Given the description of an element on the screen output the (x, y) to click on. 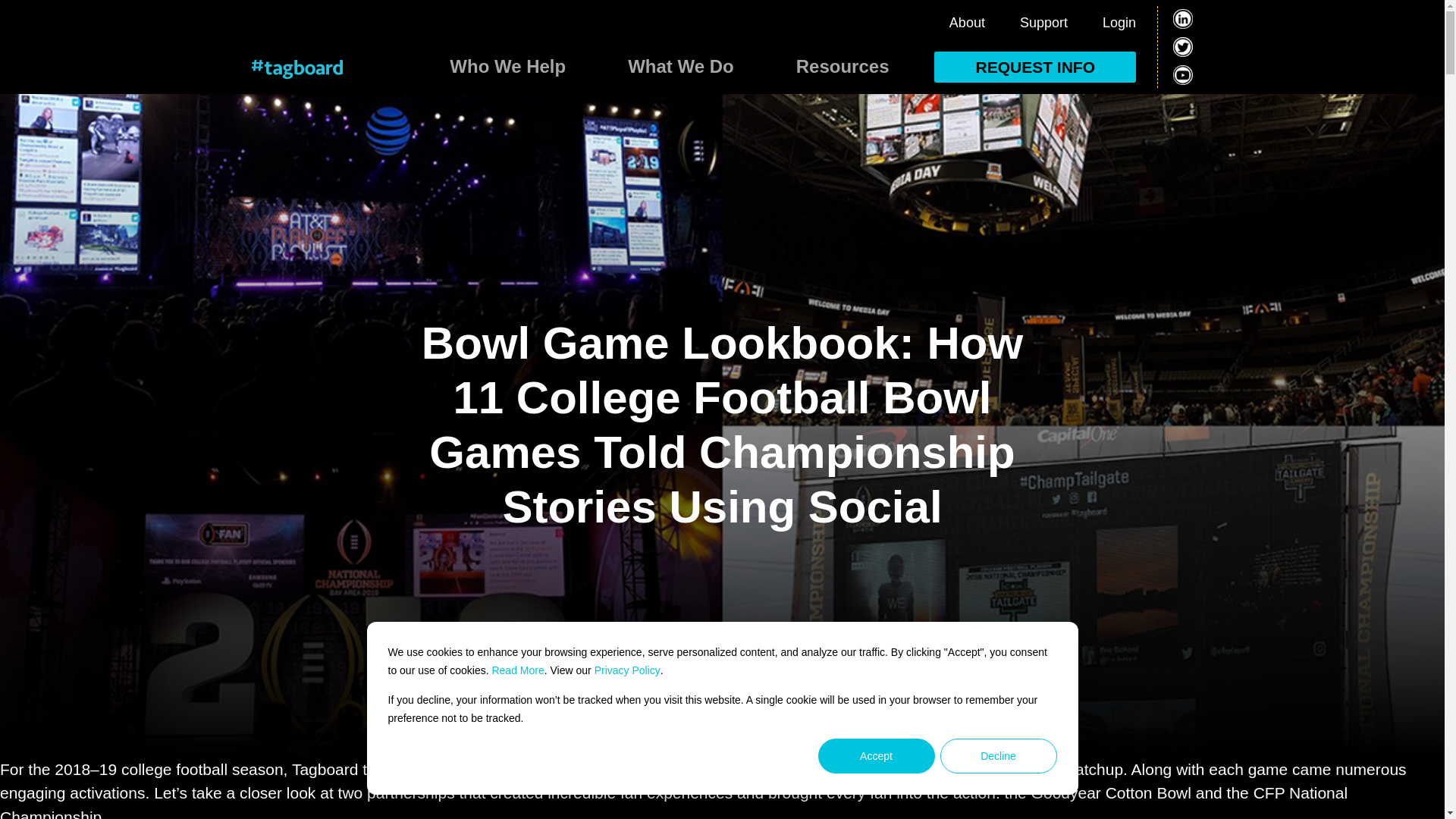
Follow us on LinkedIn (1182, 18)
What We Do (681, 69)
Login (1118, 23)
REQUEST INFO (1034, 66)
About (967, 23)
Follow us on Twitter (1182, 46)
Who We Help (507, 69)
Follow us on YouTube (1182, 75)
Support (1043, 23)
Resources (841, 69)
